Given the description of an element on the screen output the (x, y) to click on. 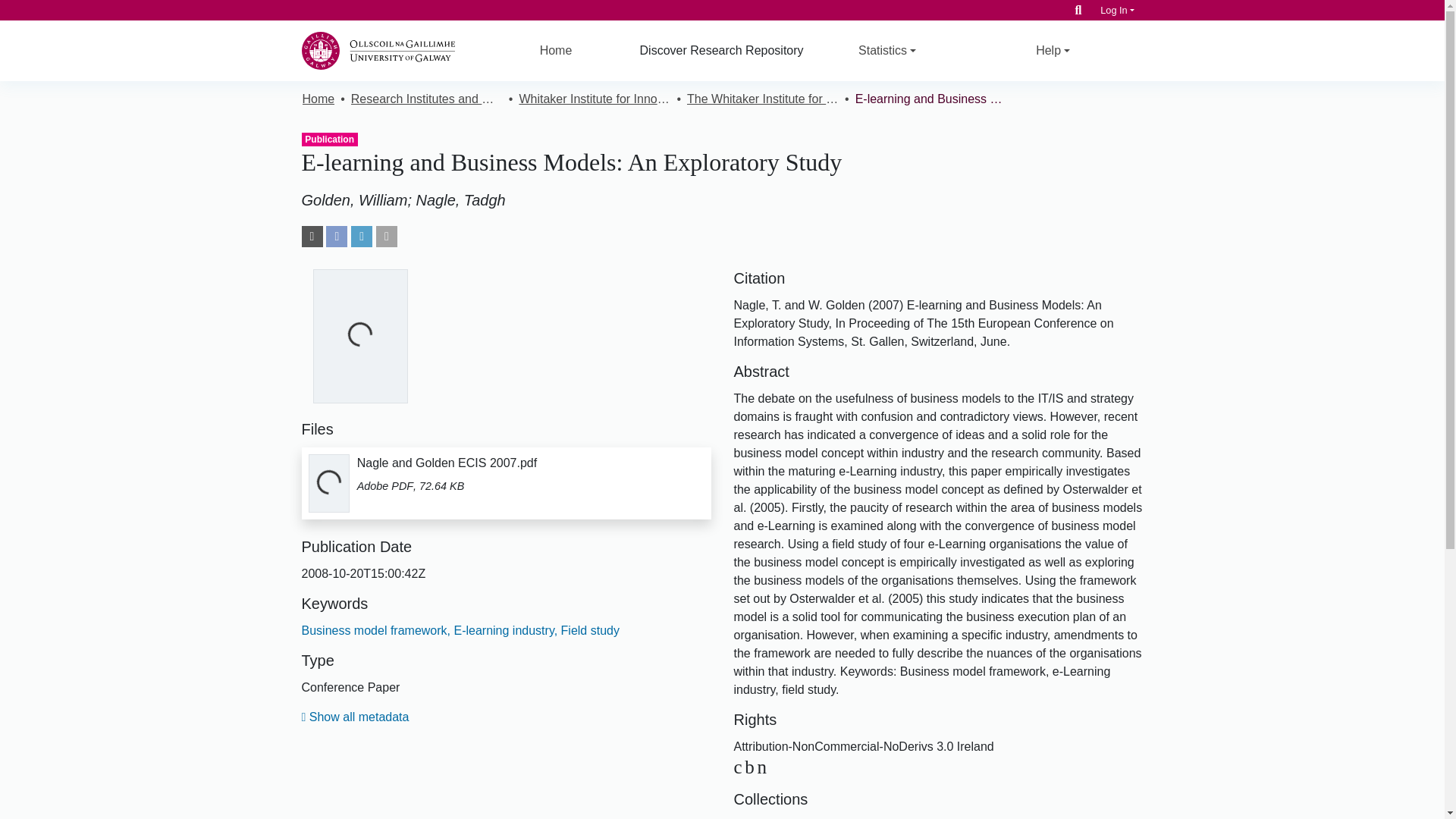
Show all metadata (355, 716)
Research Institutes and Centres (426, 99)
cbn (751, 766)
Whitaker Institute for Innovation and Societal Change (593, 99)
Help (1052, 50)
Field study (588, 630)
E-learning industry, (503, 630)
Statistics (888, 50)
Search (1078, 10)
Home (556, 50)
Business model framework, (376, 630)
Log In (1117, 9)
Attribution-NonCommercial-NoDerivs 3.0 Ireland (751, 766)
Home (317, 99)
